Given the description of an element on the screen output the (x, y) to click on. 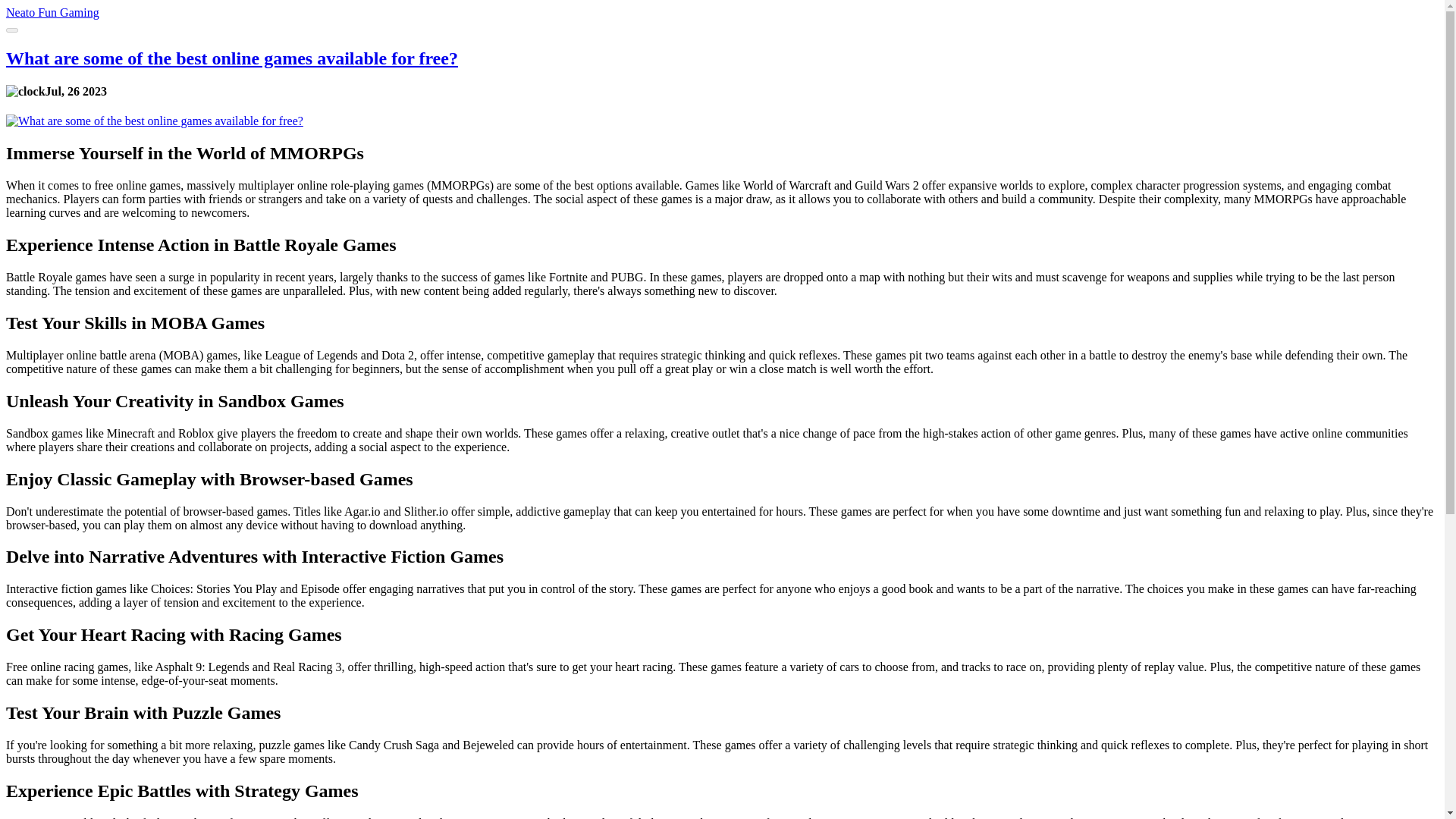
Neato Fun Gaming (52, 11)
